Given the description of an element on the screen output the (x, y) to click on. 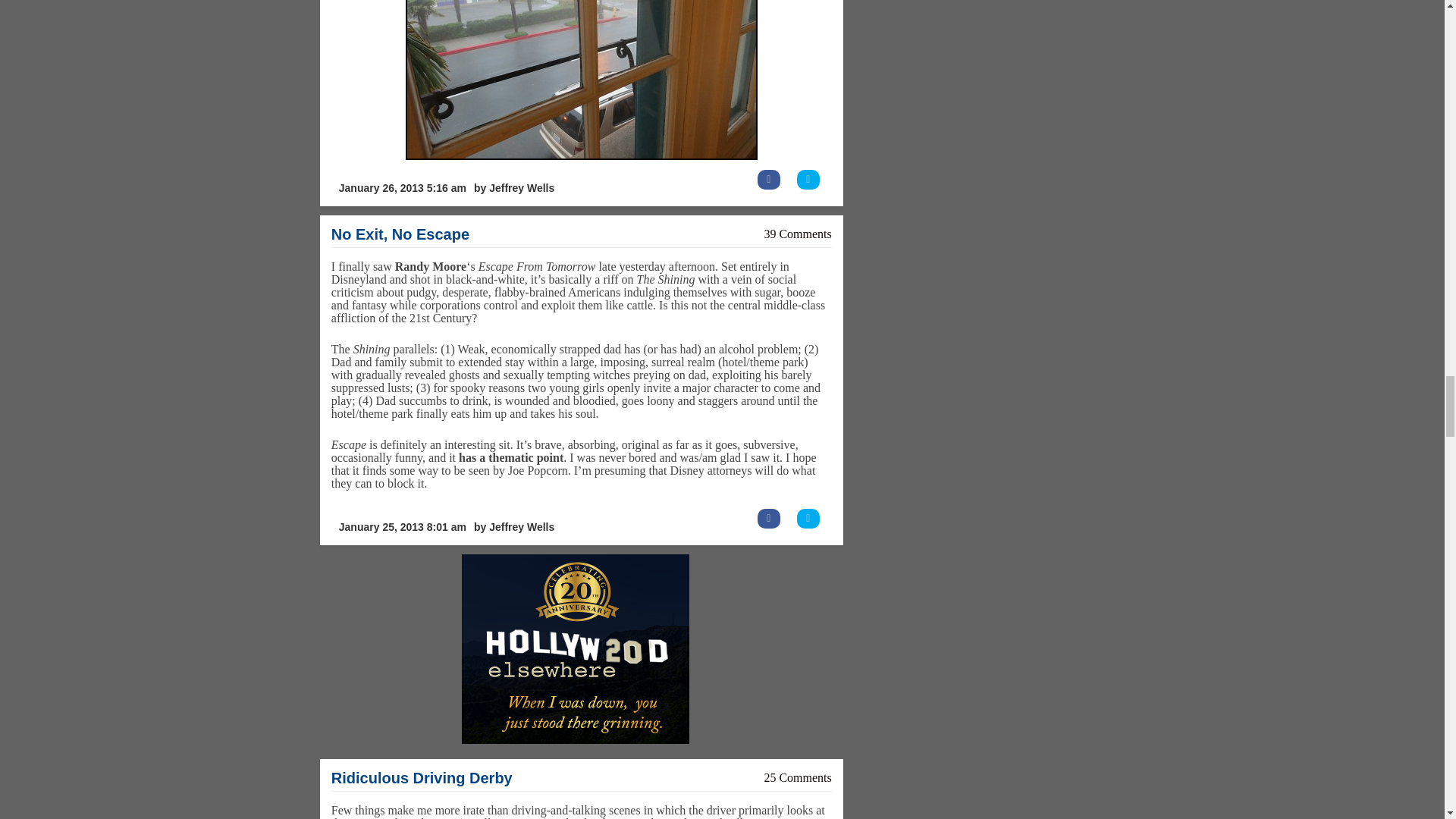
Permanent Link to No Exit, No Escape (399, 234)
Permanent Link to Ridiculous Driving Derby (421, 777)
